Given the description of an element on the screen output the (x, y) to click on. 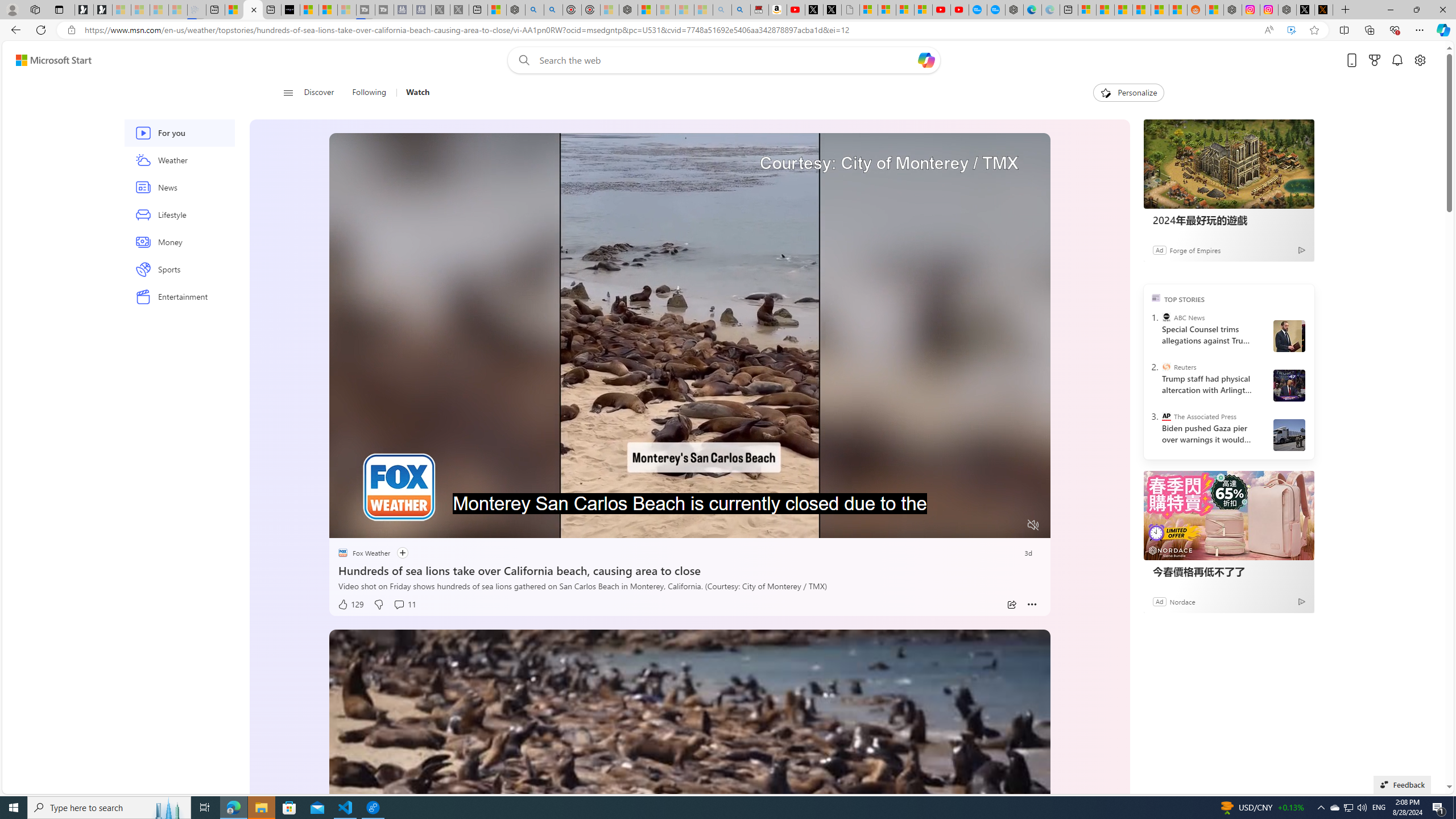
Enhance video (1291, 29)
Microsoft rewards (1374, 60)
Day 1: Arriving in Yemen (surreal to be here) - YouTube (795, 9)
placeholder Fox Weather (363, 552)
Seek Forward (391, 525)
ABC News (1165, 316)
